Given the description of an element on the screen output the (x, y) to click on. 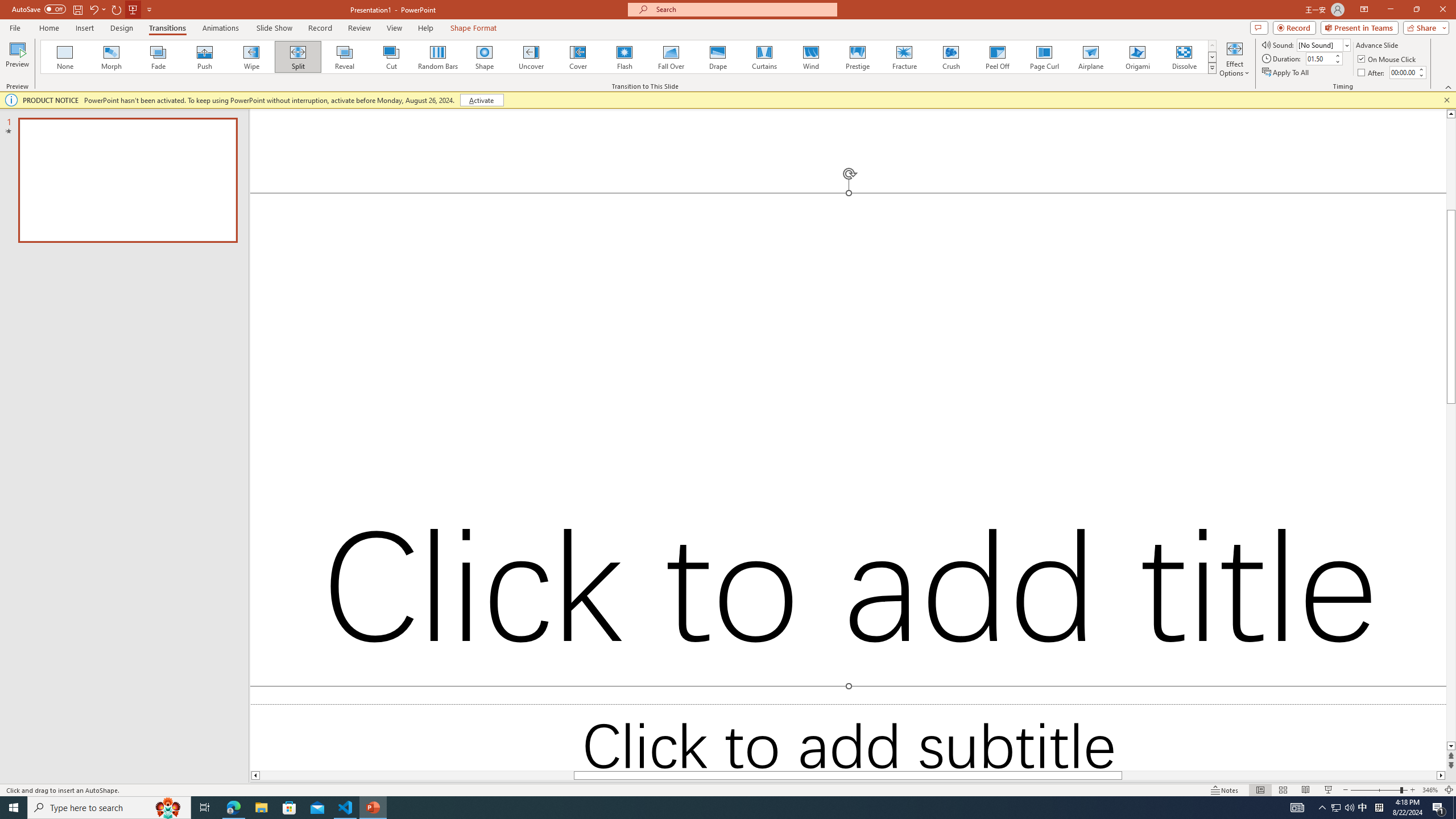
Crush (950, 56)
Fracture (903, 56)
Curtains (764, 56)
Drape (717, 56)
On Mouse Click (1387, 58)
